Given the description of an element on the screen output the (x, y) to click on. 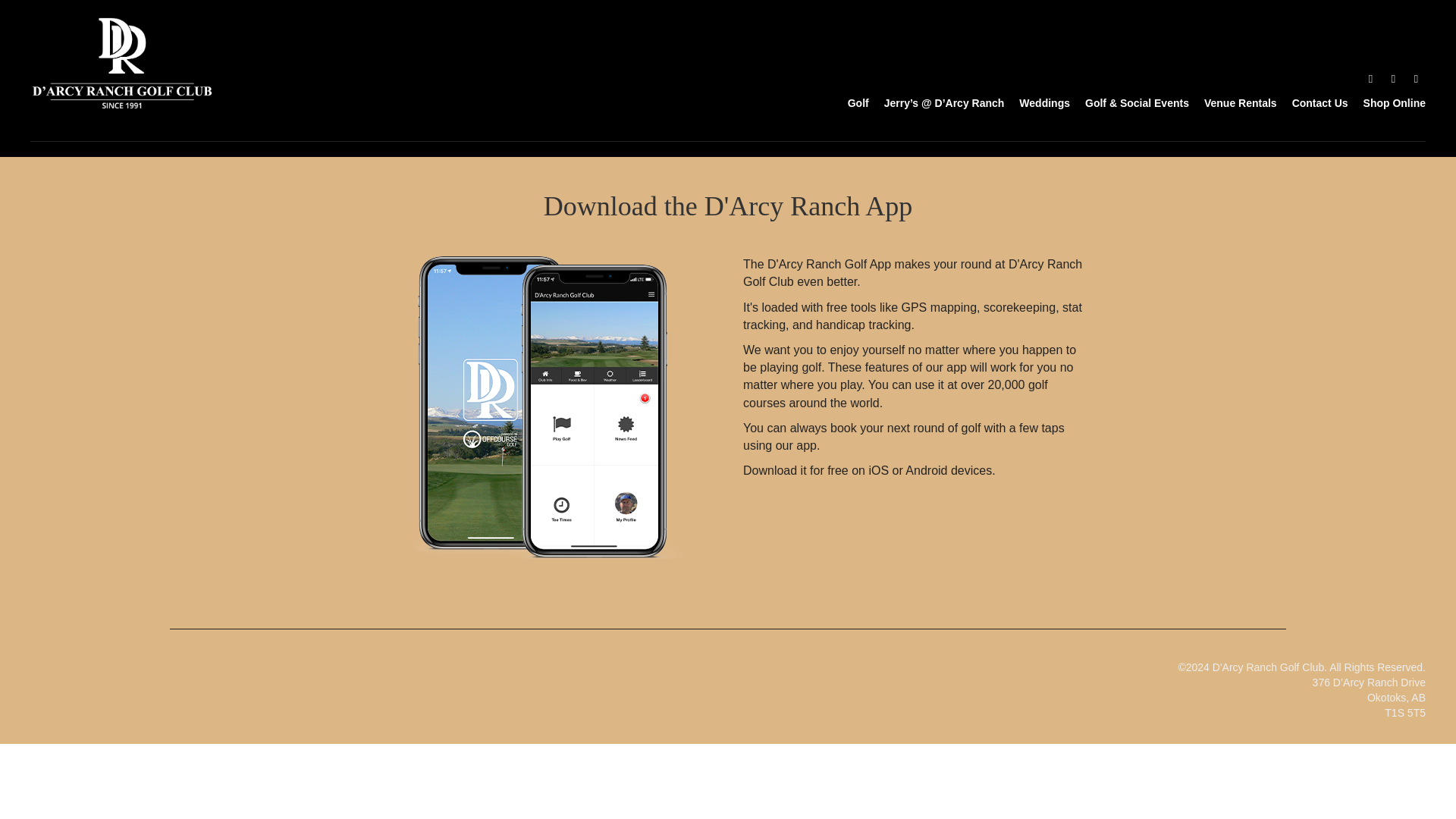
Contact Us (1312, 102)
Venue Rentals (1232, 102)
Shop Online (1386, 102)
Golf (850, 102)
dr-app-3 (538, 406)
Weddings (1037, 102)
DR-Logo-WT (122, 62)
